Given the description of an element on the screen output the (x, y) to click on. 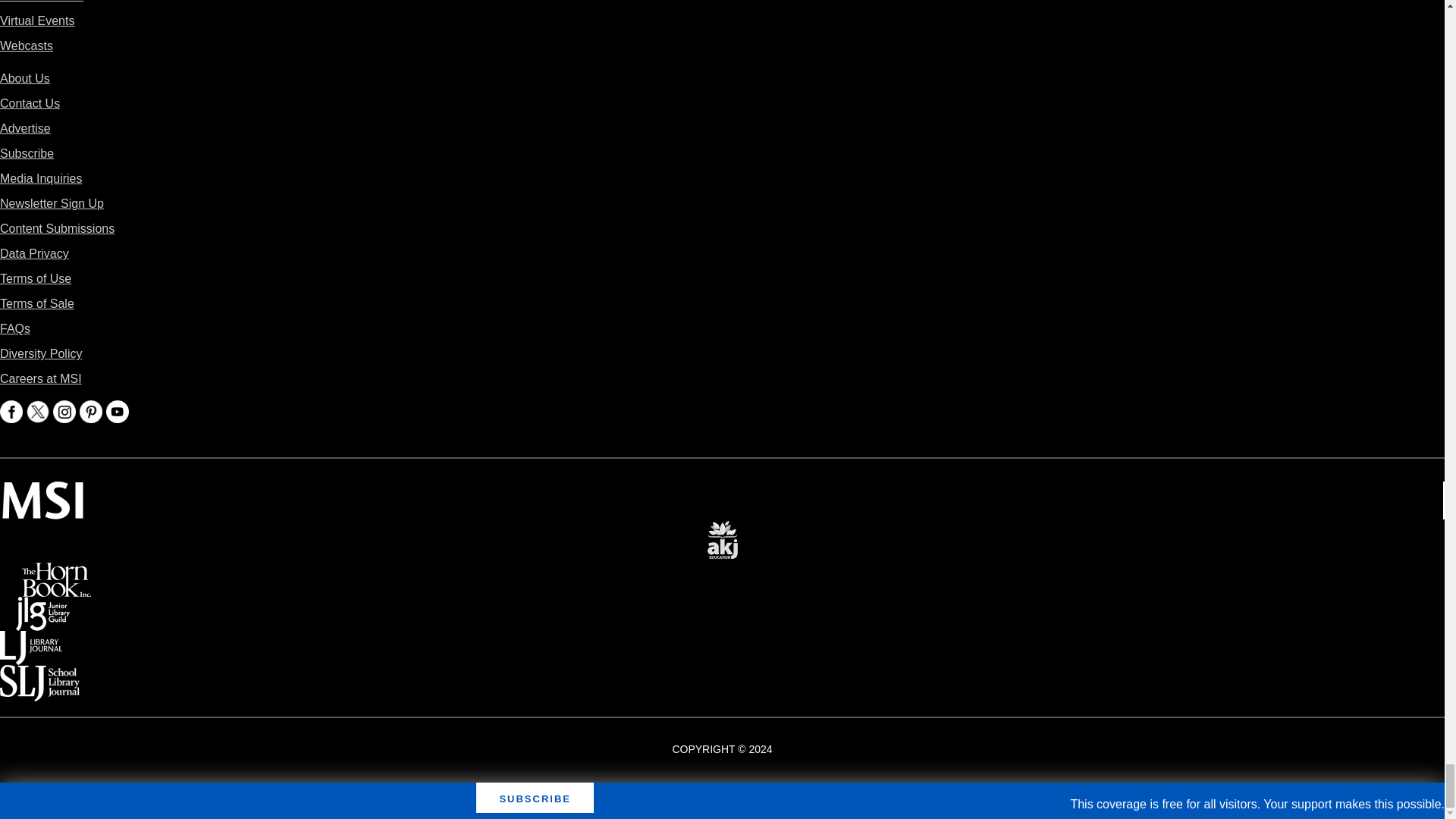
Media Source Incorporated (42, 491)
AKJ (722, 529)
School Library Journal (40, 675)
Junior Library Guild (42, 607)
The Horn Book (56, 572)
